Given the description of an element on the screen output the (x, y) to click on. 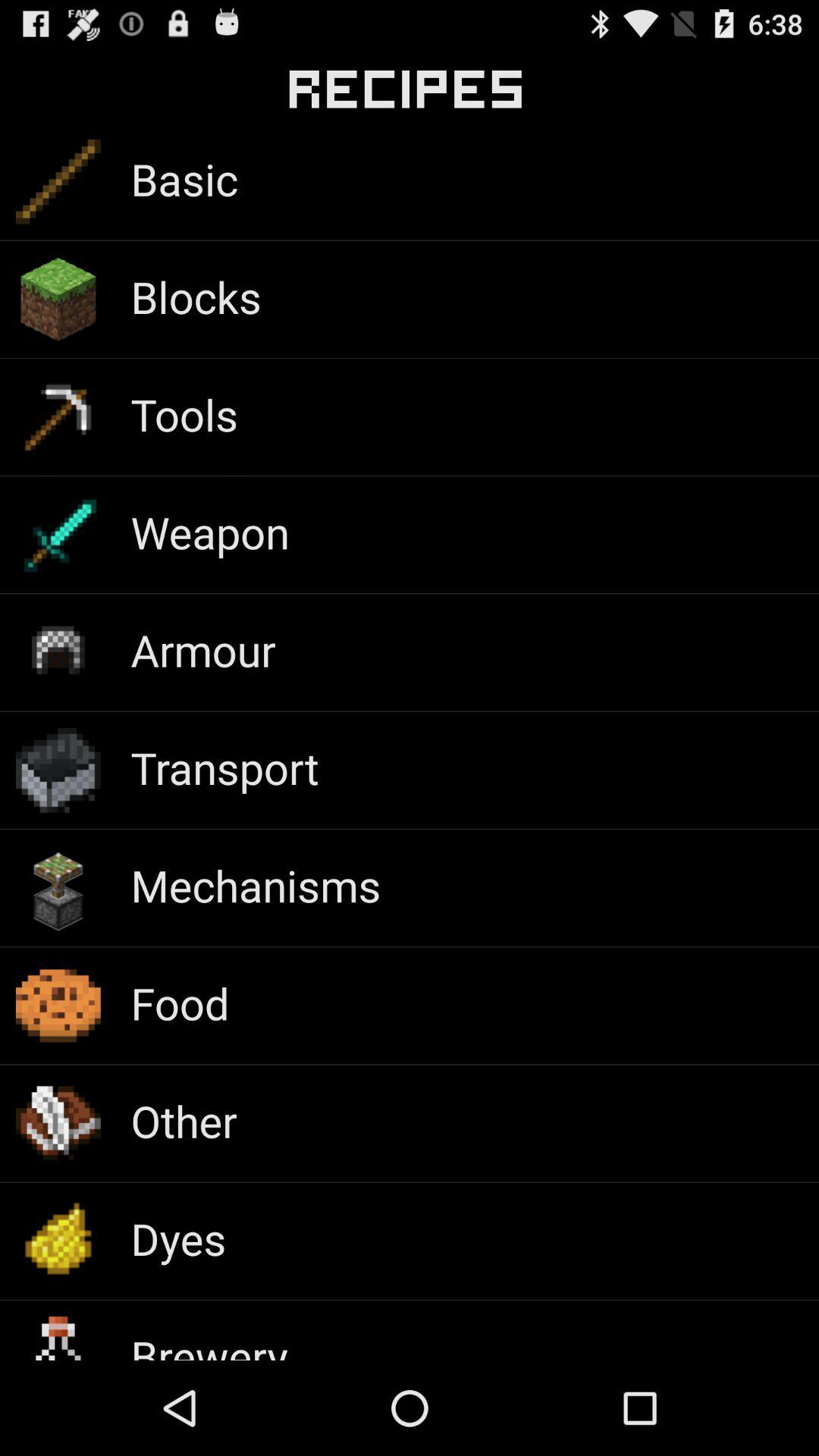
turn off brewery (208, 1343)
